Given the description of an element on the screen output the (x, y) to click on. 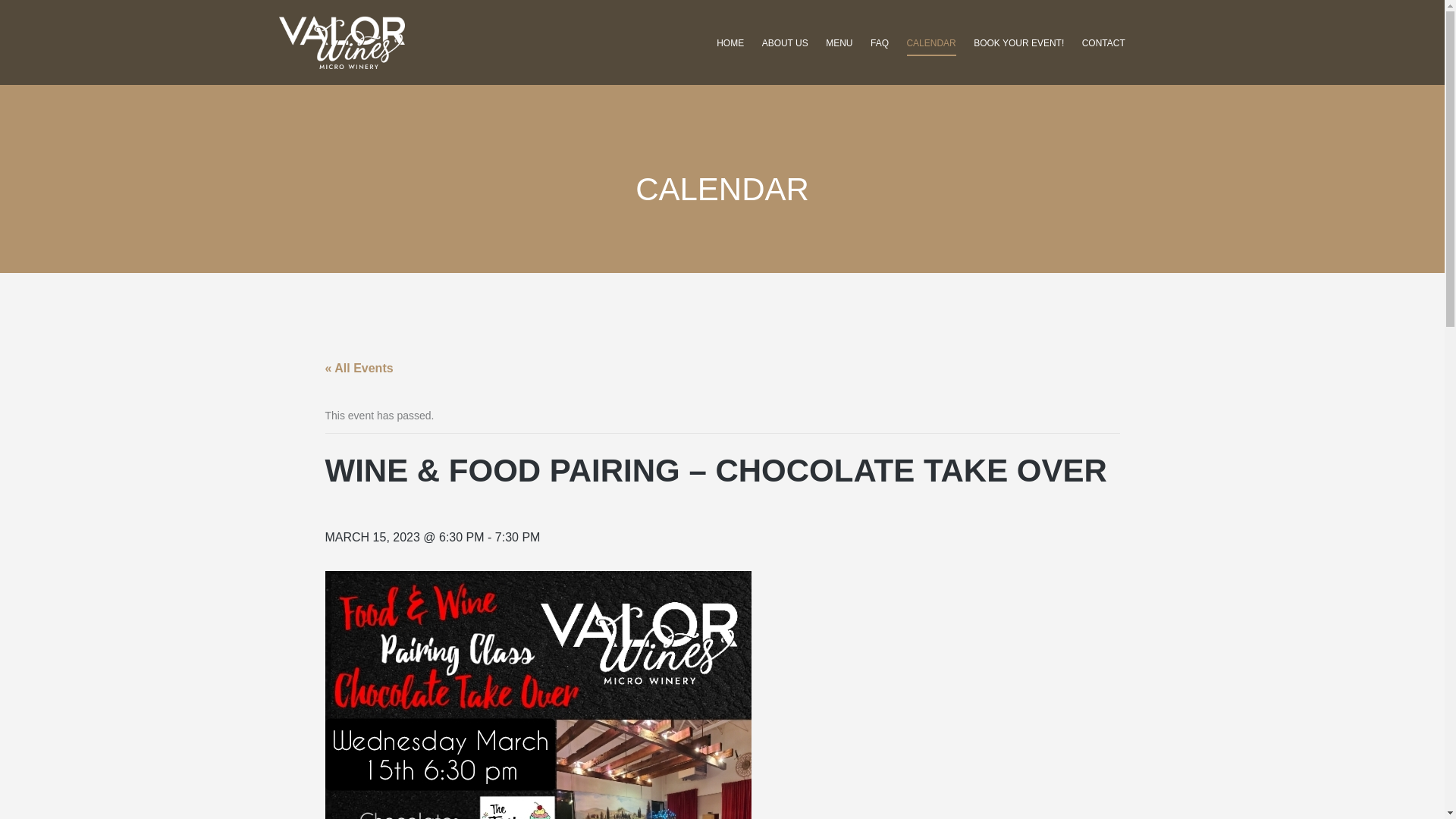
MENU (838, 43)
ABOUT US (784, 43)
CONTACT (1103, 43)
CALENDAR (931, 43)
BOOK YOUR EVENT! (1017, 43)
HOME (729, 43)
